Given the description of an element on the screen output the (x, y) to click on. 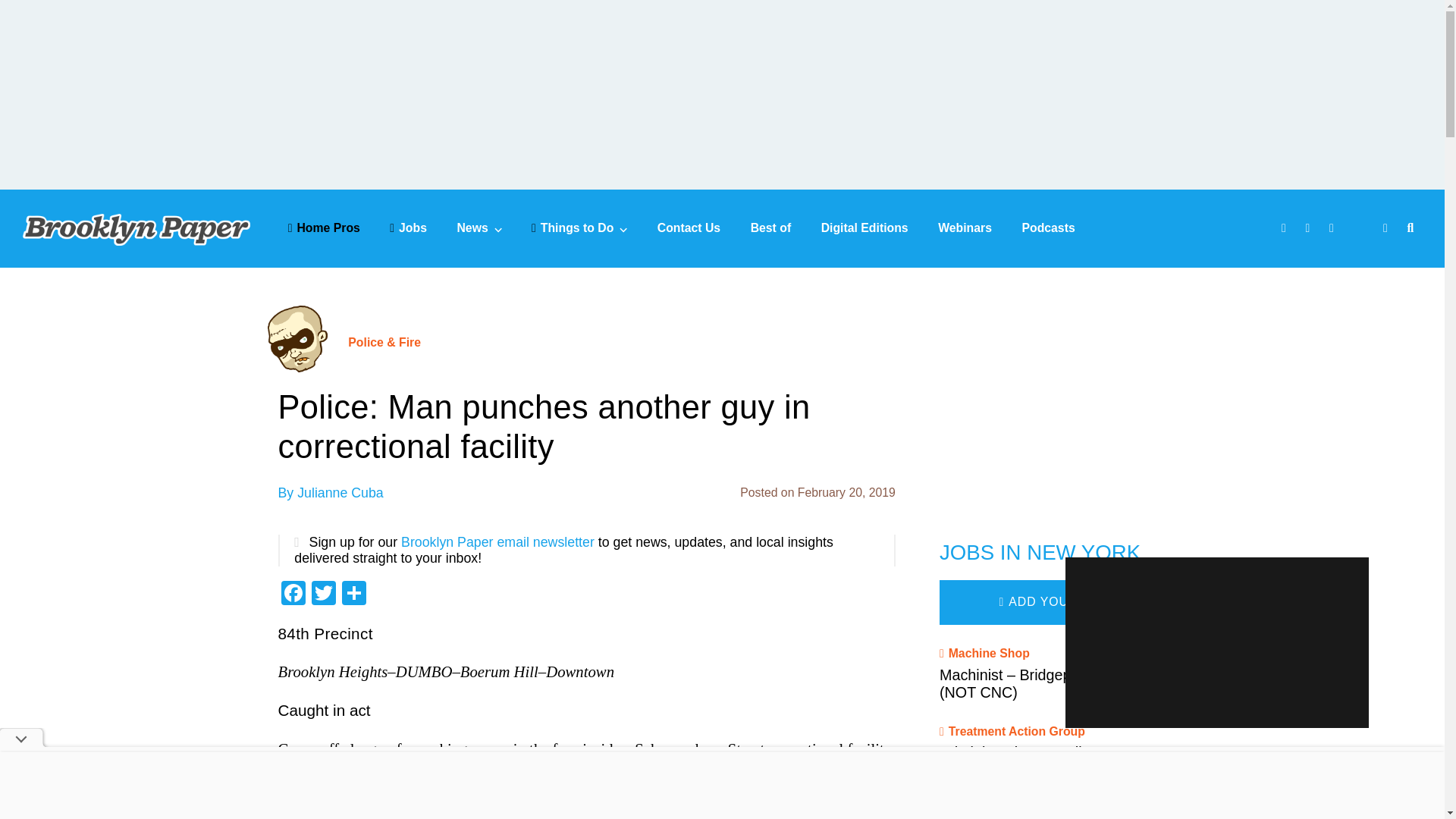
Digital Editions (864, 227)
Home Pros (323, 227)
Twitter (1310, 228)
Contact Us (689, 227)
Twitter (322, 594)
Best of (771, 227)
Podcasts (1048, 227)
News (478, 227)
Jobs (408, 227)
Things to Do (579, 227)
Instagram (1333, 228)
Webinars (964, 227)
Facebook (1285, 228)
Facebook (292, 594)
